Given the description of an element on the screen output the (x, y) to click on. 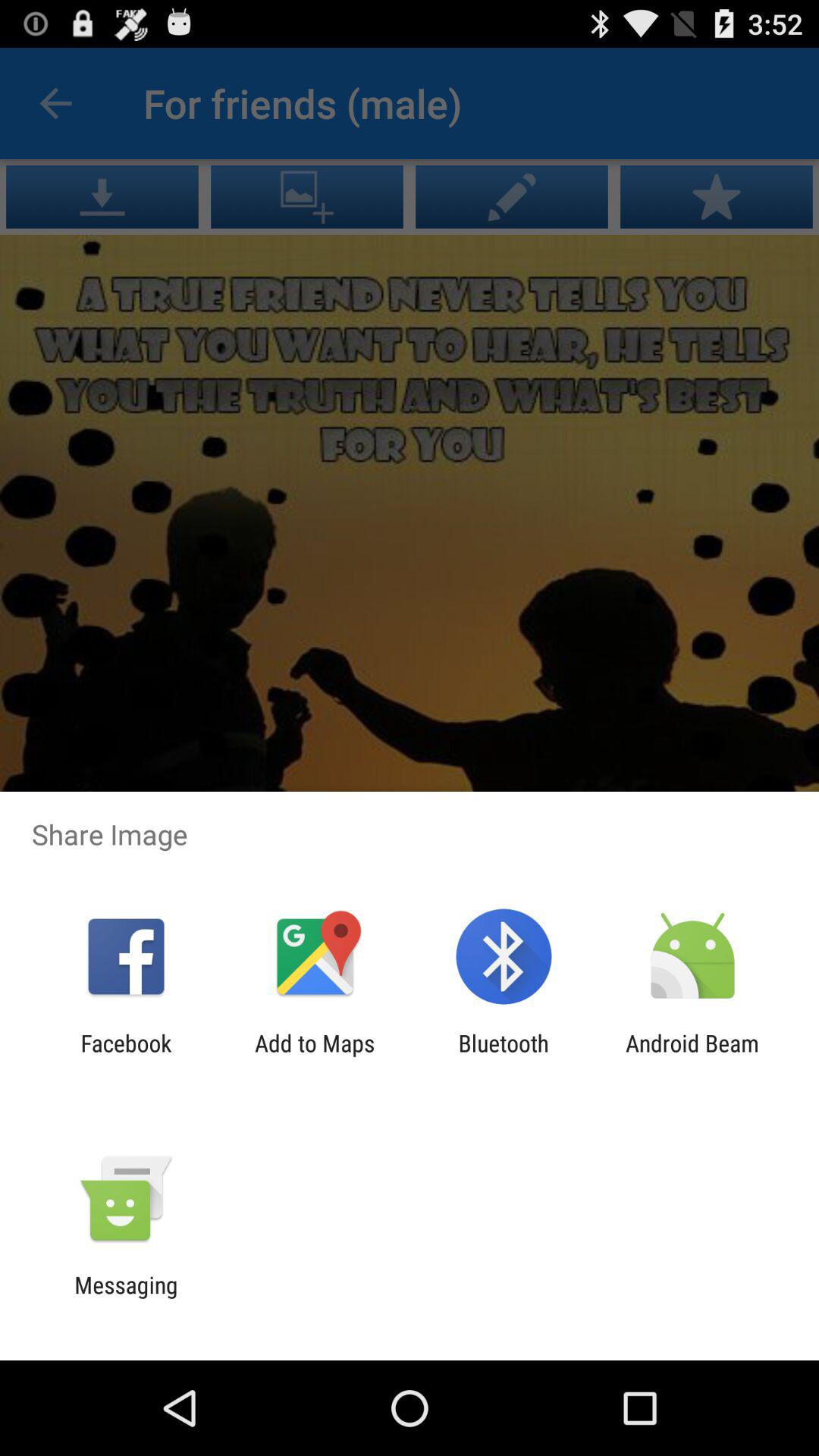
turn on the facebook (125, 1056)
